Given the description of an element on the screen output the (x, y) to click on. 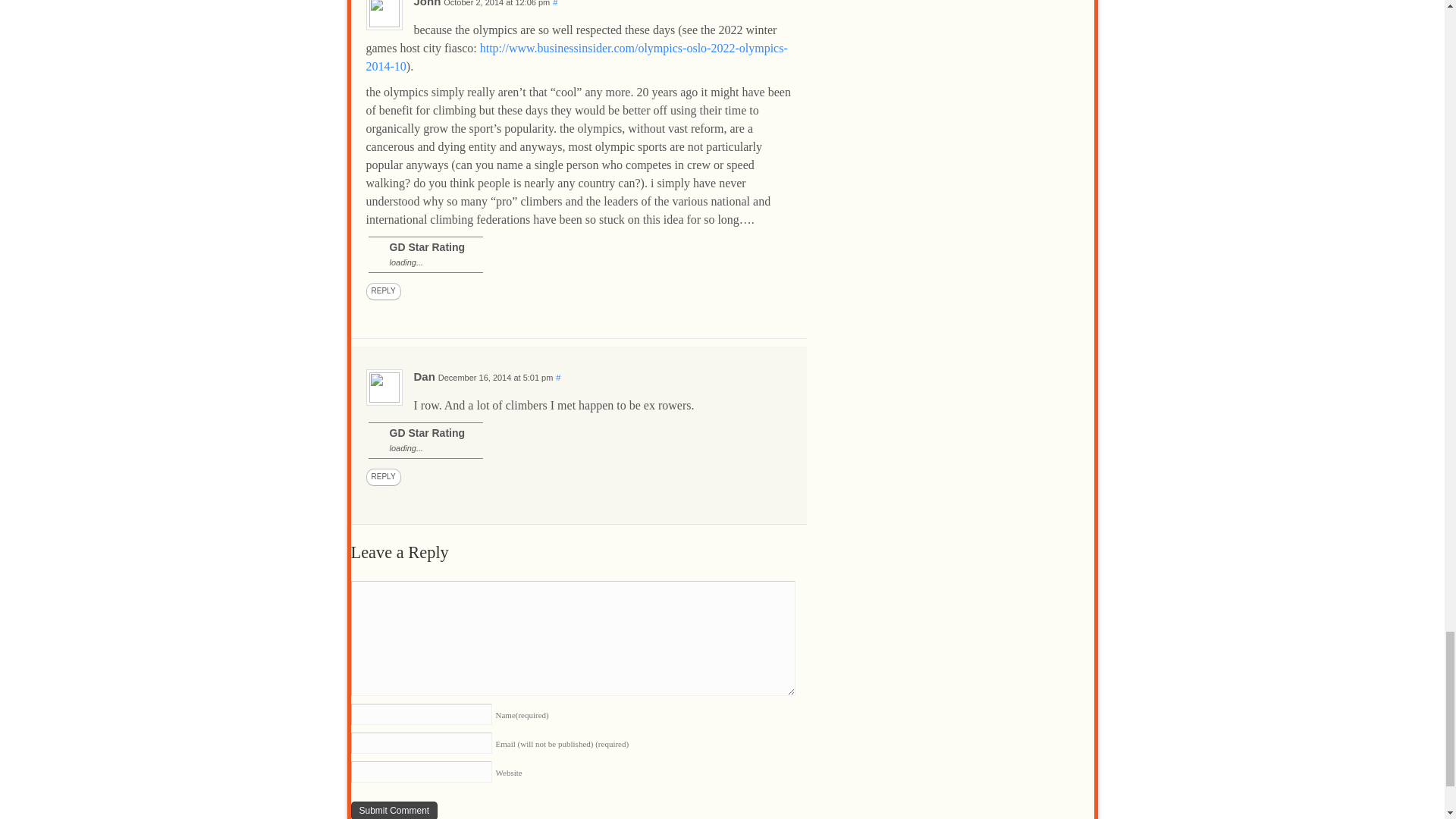
Submit Comment (394, 810)
